Given the description of an element on the screen output the (x, y) to click on. 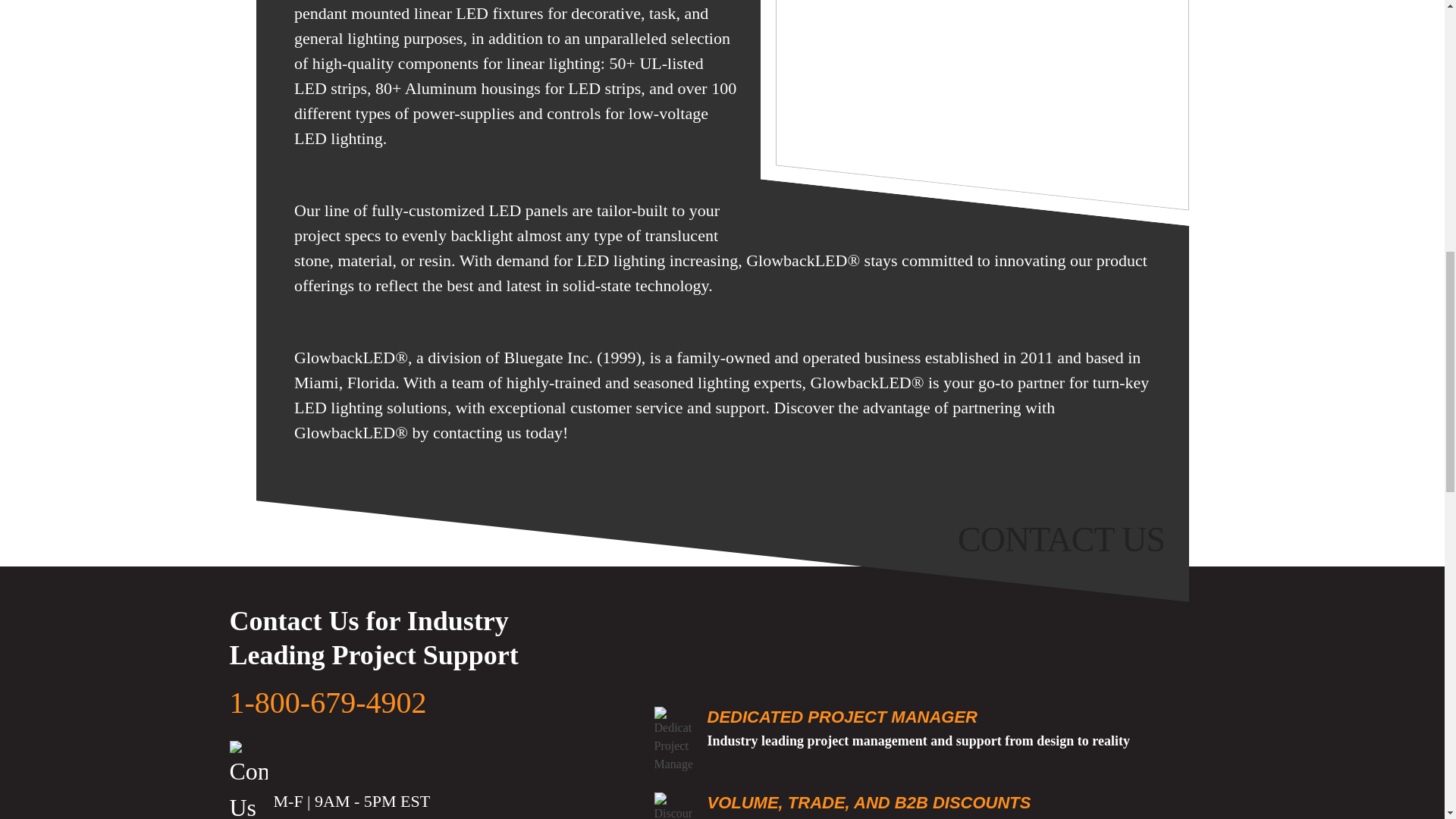
Discounts (672, 805)
